Given the description of an element on the screen output the (x, y) to click on. 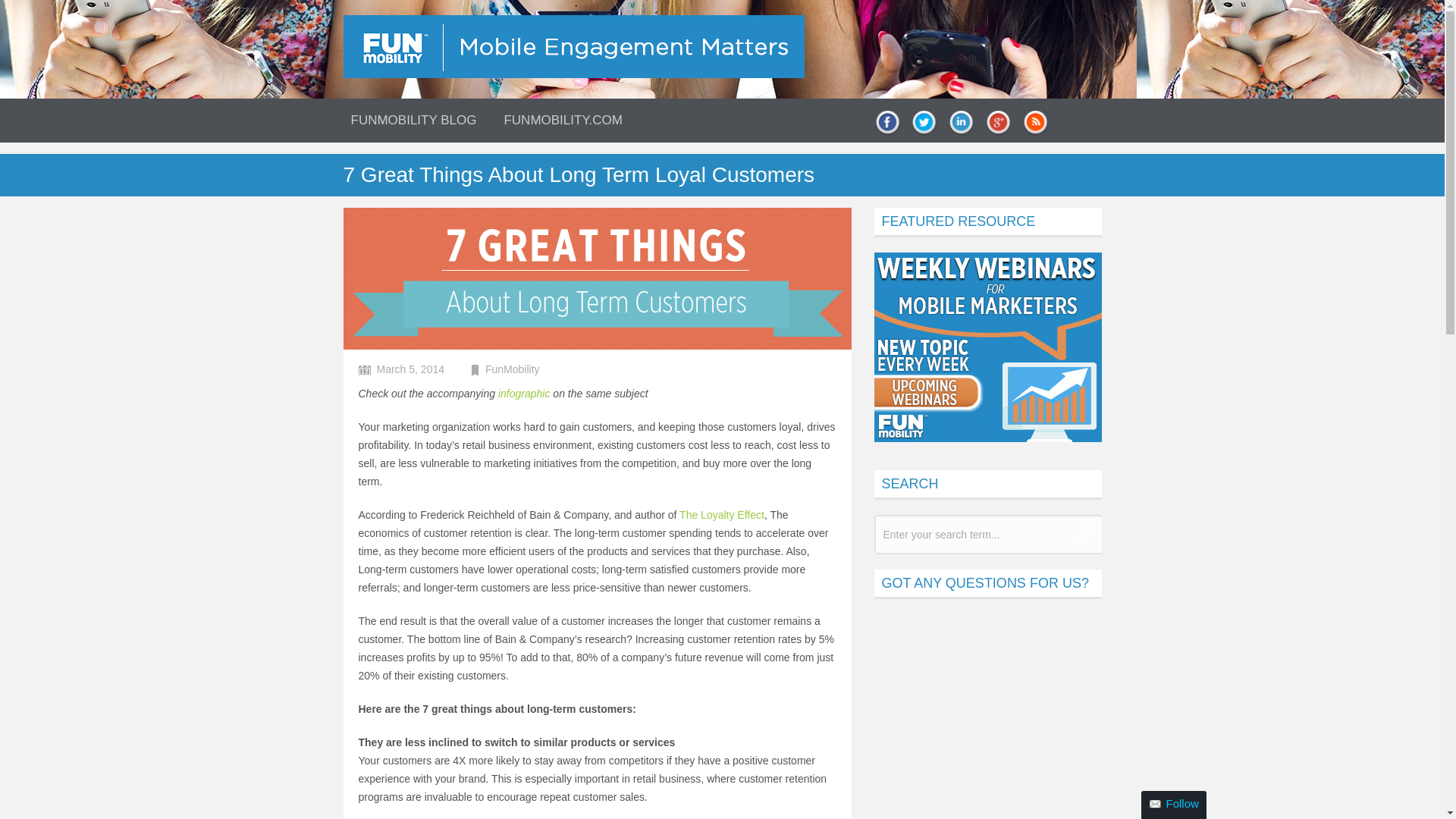
7 Great Things about Long Term Loyal Customeres (523, 393)
FUNMOBILITY.COM (562, 119)
Enter your search term... (987, 534)
FUNMOBILITY BLOG (412, 119)
The Loyalty Effect (721, 514)
The Loyalty Effect (721, 514)
Form 0 (986, 716)
Search (1085, 530)
Search (1085, 530)
FunMobility (512, 369)
infographic (523, 393)
